Given the description of an element on the screen output the (x, y) to click on. 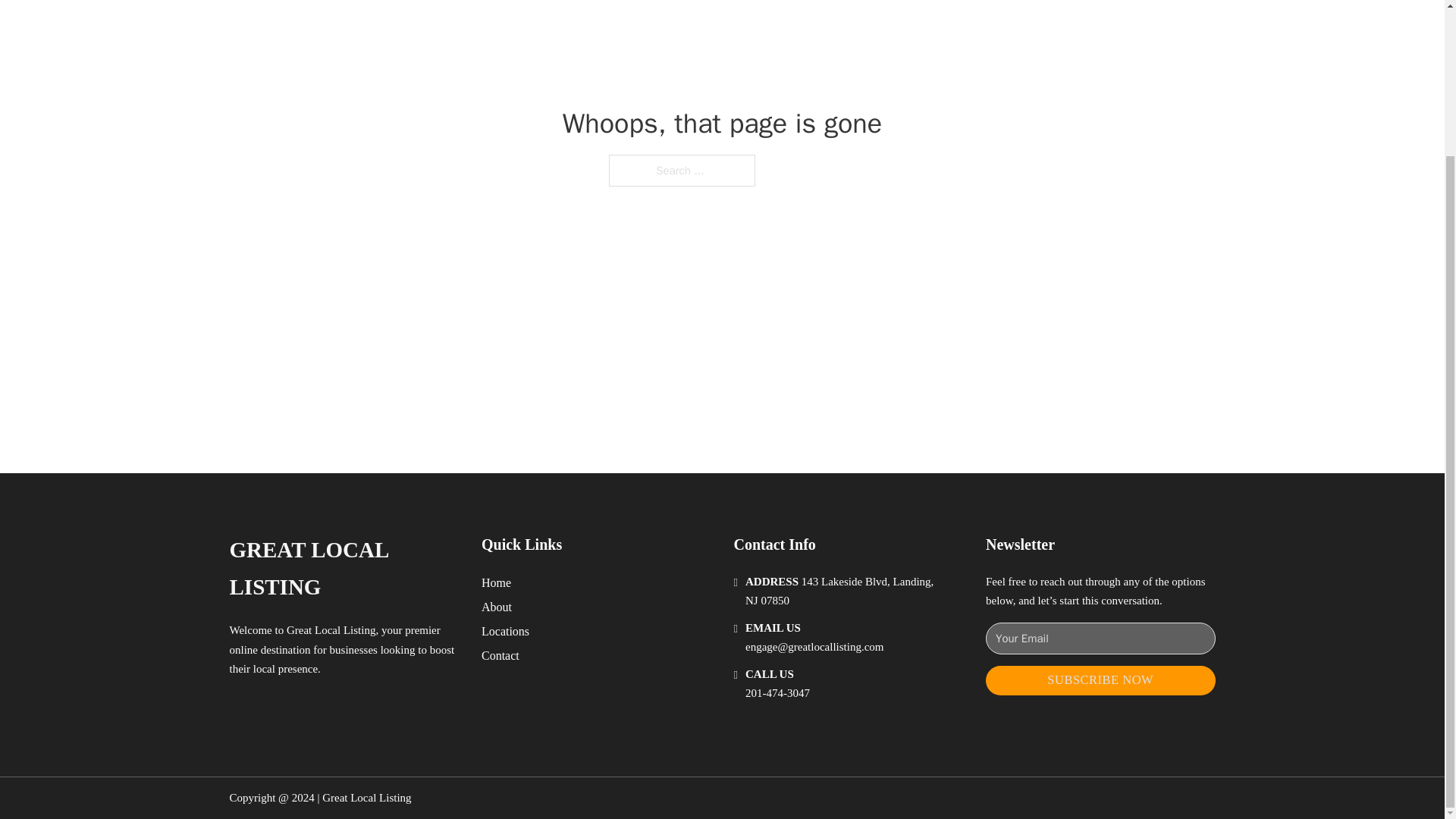
Locations (505, 630)
201-474-3047 (777, 693)
SUBSCRIBE NOW (1100, 680)
GREAT LOCAL LISTING (343, 568)
Contact (500, 655)
About (496, 607)
Home (496, 582)
